Given the description of an element on the screen output the (x, y) to click on. 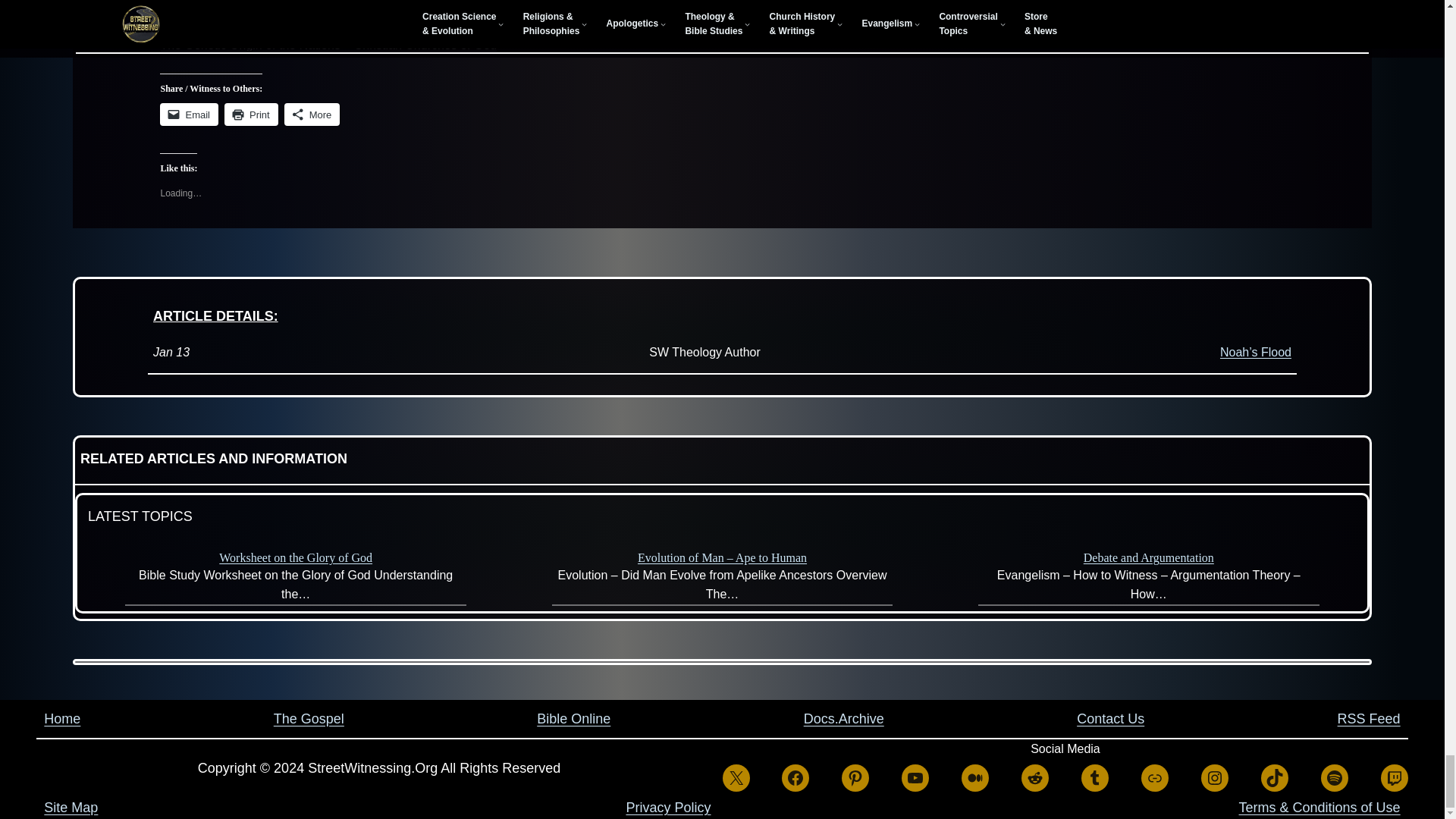
Click to print (251, 114)
Click to email a link to a friend (189, 114)
